Given the description of an element on the screen output the (x, y) to click on. 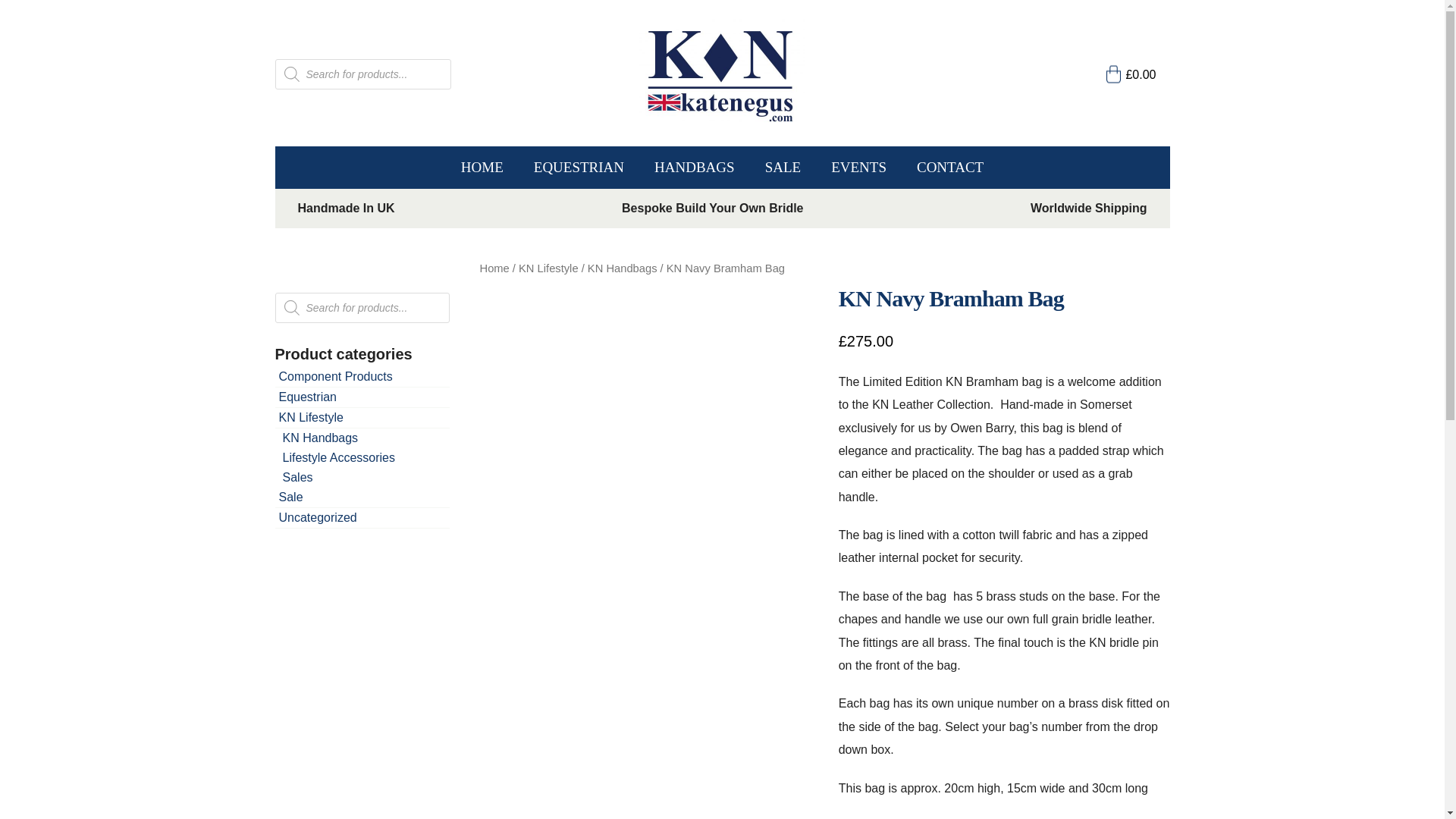
KN Lifestyle (548, 268)
HOME (481, 167)
Home (493, 268)
SALE (782, 167)
EQUESTRIAN (578, 167)
CONTACT (949, 167)
HANDBAGS (694, 167)
View your shopping cart (1131, 73)
EVENTS (858, 167)
